Given the description of an element on the screen output the (x, y) to click on. 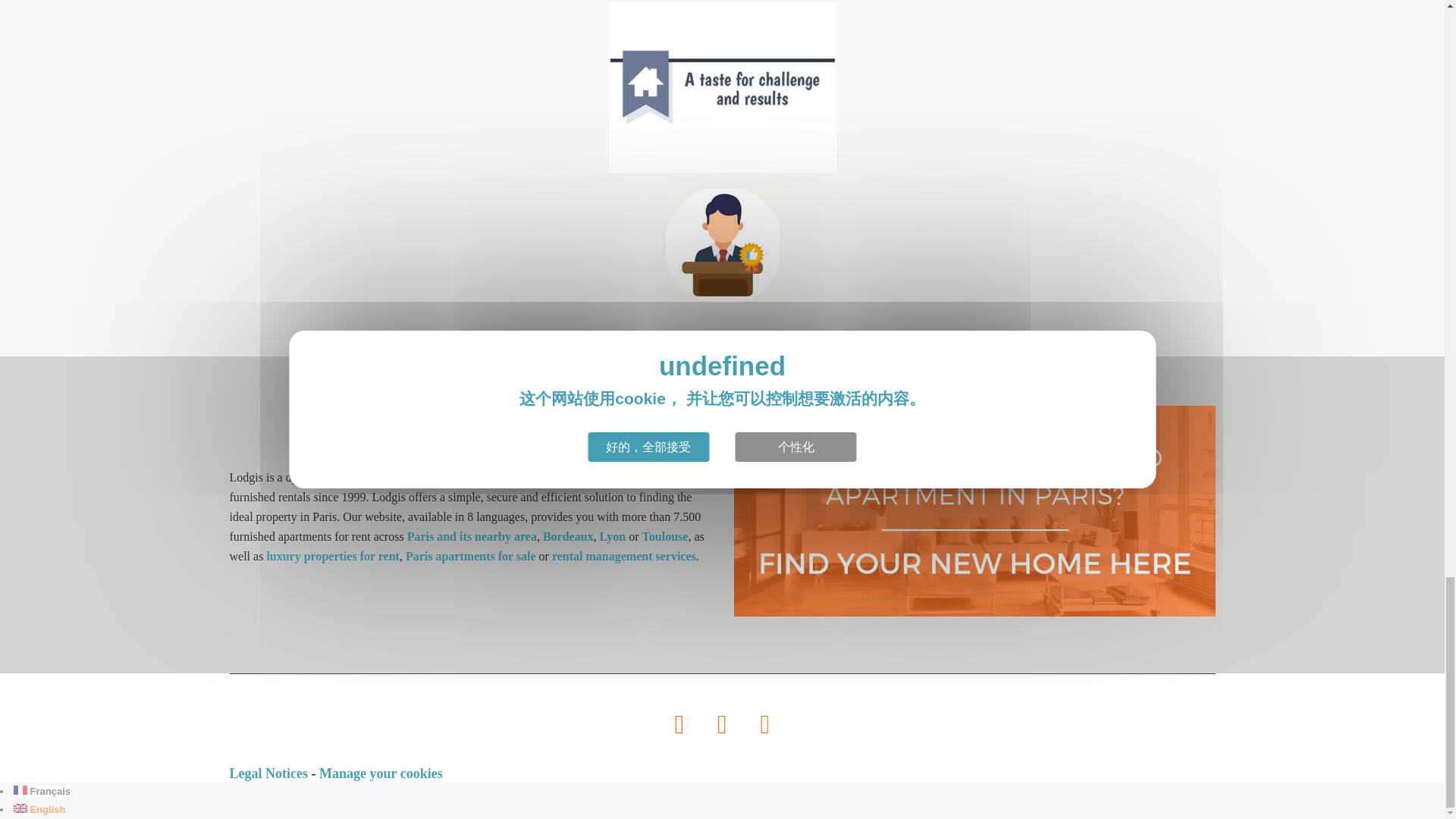
English (20, 808)
Bordeaux (568, 535)
Lyon (612, 535)
real estate agency in Paris (471, 477)
Paris and its nearby area (472, 535)
